Given the description of an element on the screen output the (x, y) to click on. 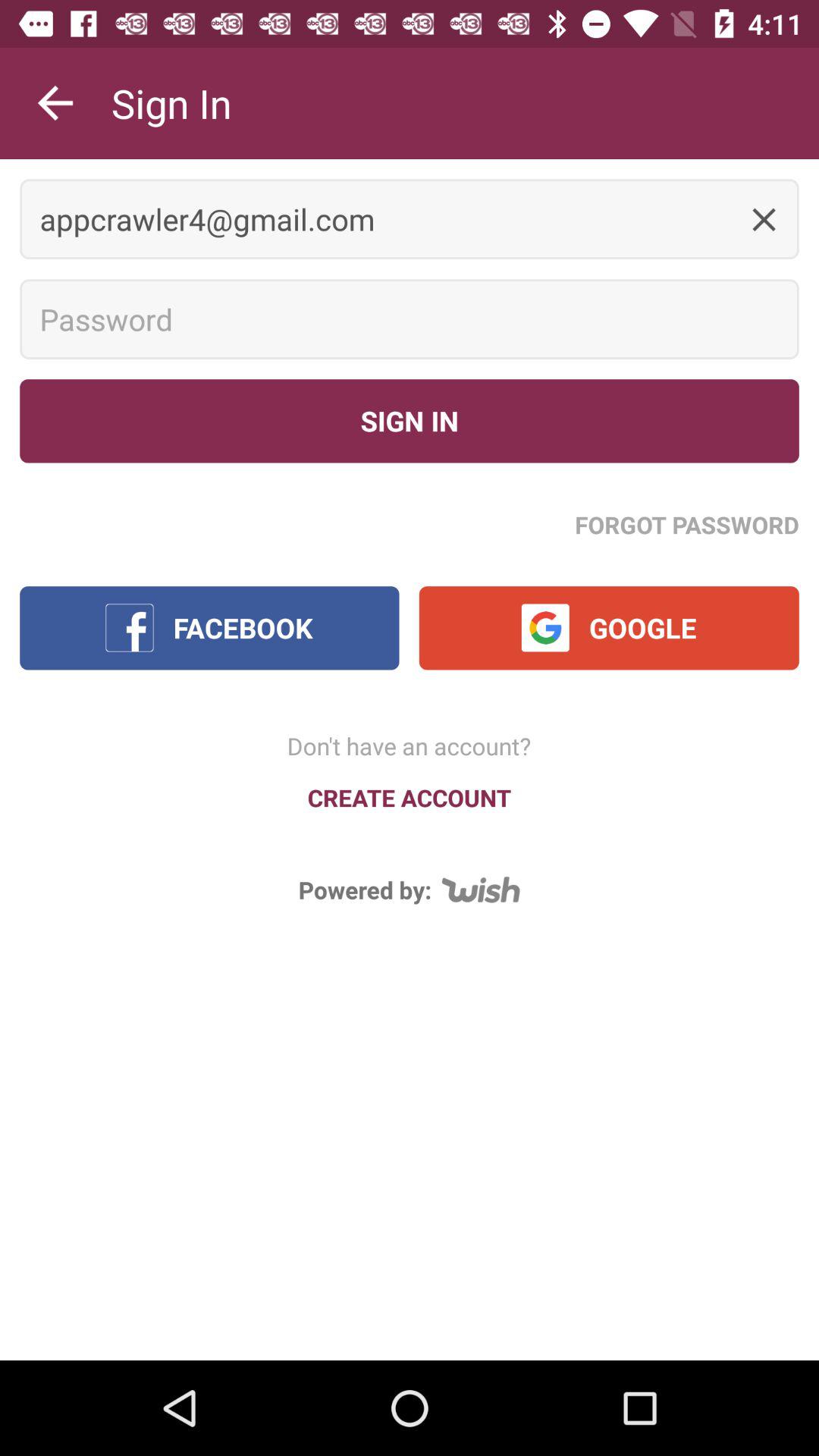
open the item next to the sign in icon (55, 103)
